Given the description of an element on the screen output the (x, y) to click on. 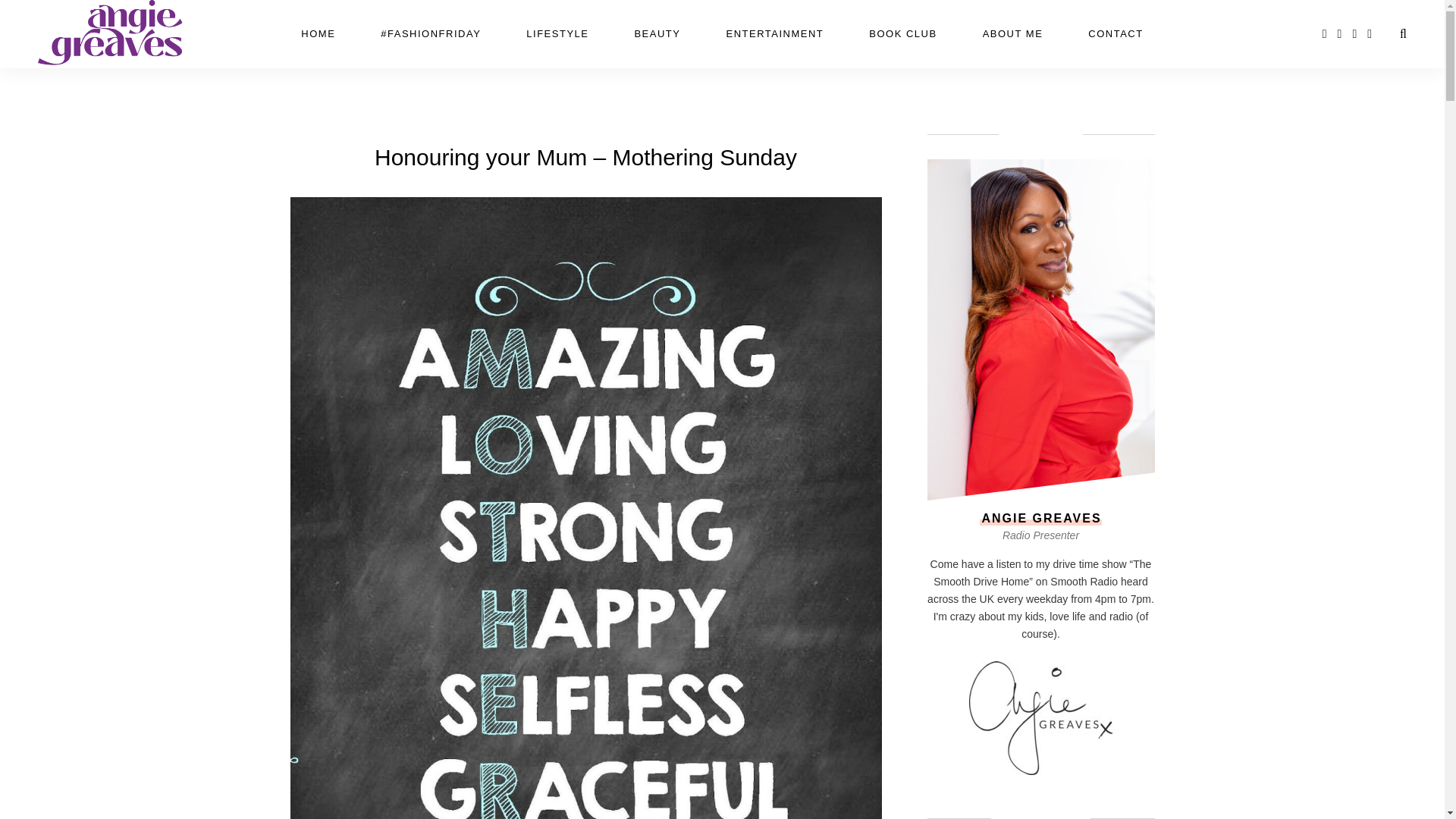
ABOUT ME (1012, 33)
ENTERTAINMENT (774, 33)
LIFESTYLE (556, 33)
BOOK CLUB (902, 33)
